Given the description of an element on the screen output the (x, y) to click on. 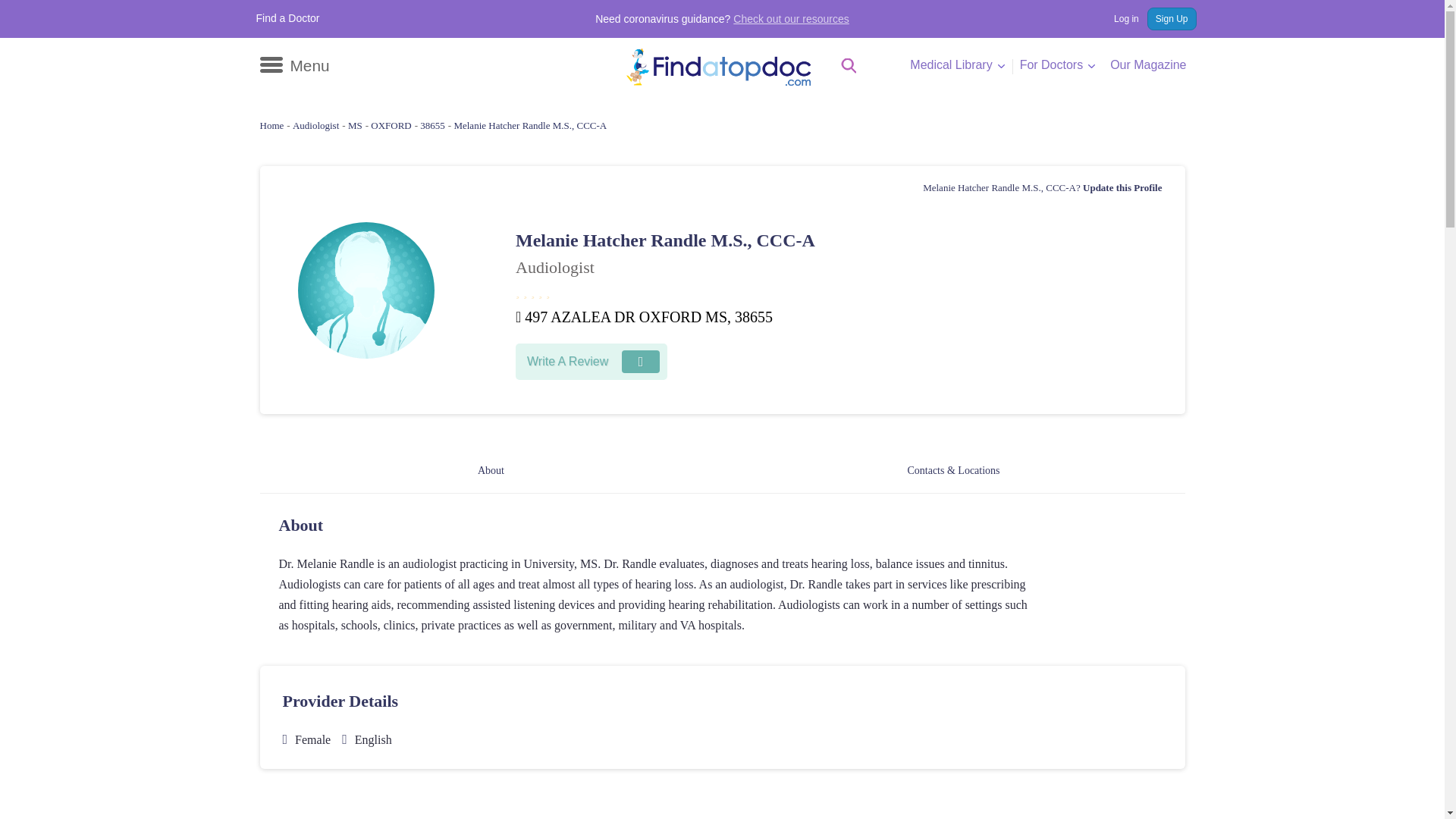
Sign Up (1171, 18)
Check out our resources (790, 19)
Find a Doctor (287, 17)
Sign Up (1171, 18)
Log in (1118, 18)
Menu (294, 65)
Log in (1118, 18)
